Given the description of an element on the screen output the (x, y) to click on. 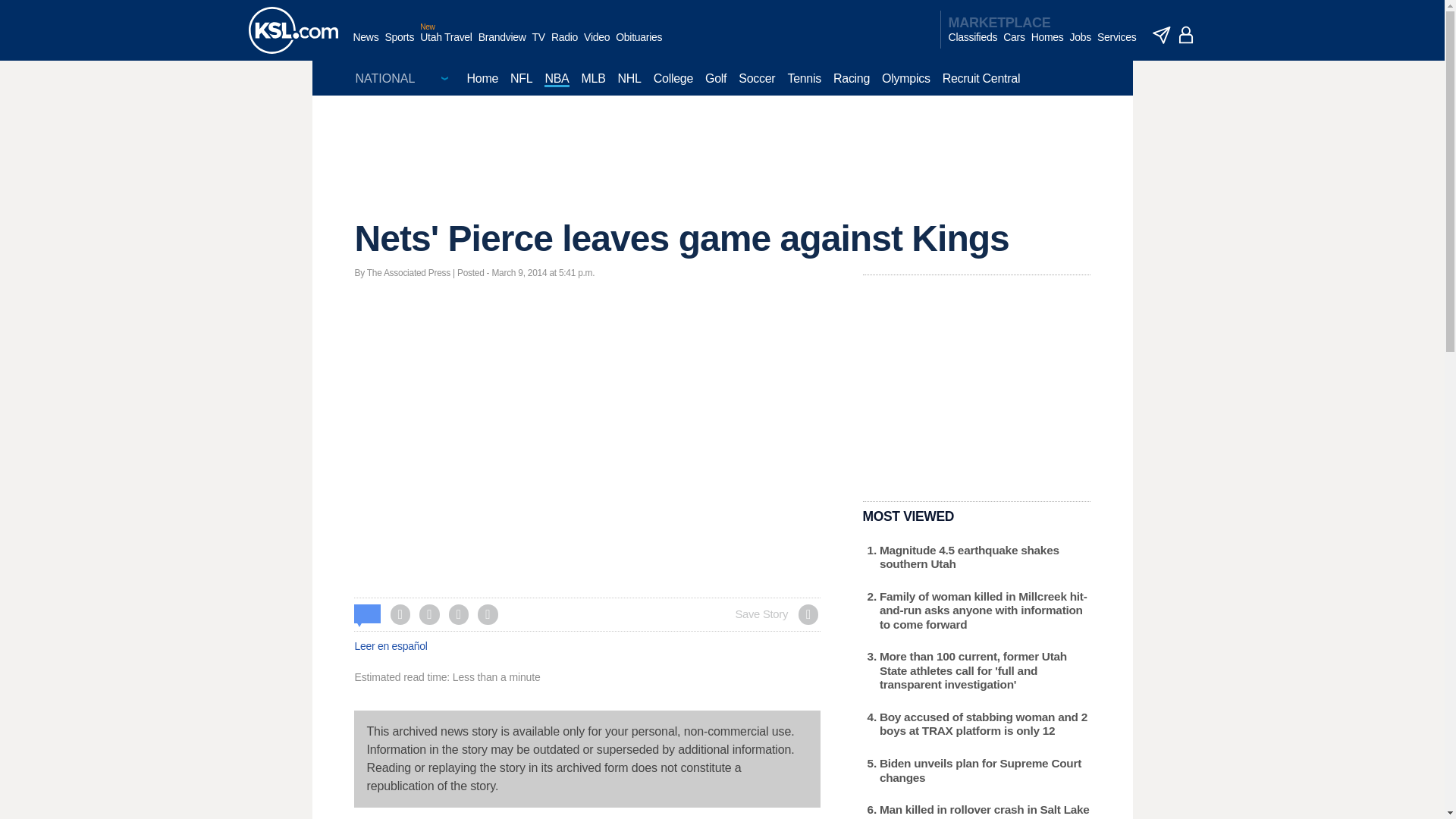
KSL homepage (292, 30)
Utah Travel (445, 45)
Sports (398, 45)
account - logged out (1185, 34)
KSL homepage (292, 29)
Brandview (502, 45)
